Given the description of an element on the screen output the (x, y) to click on. 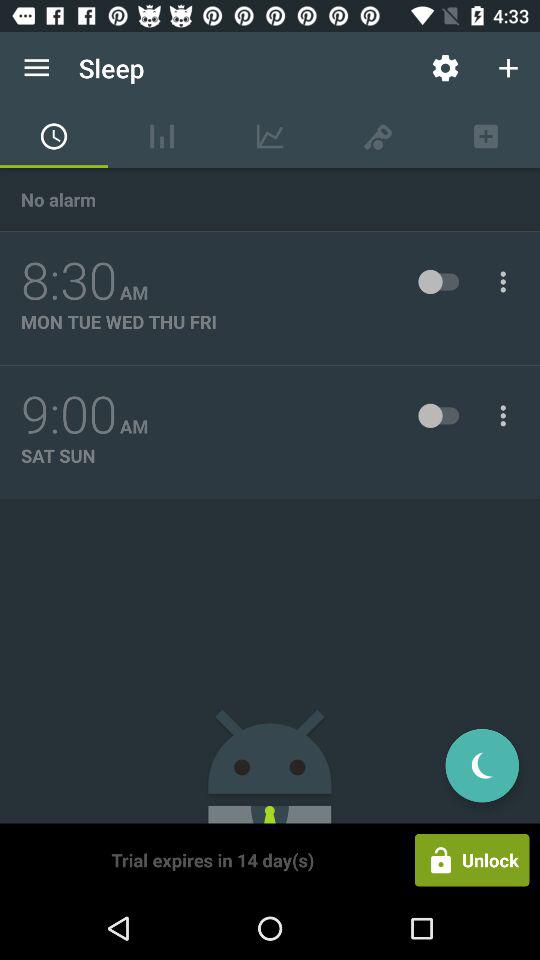
open item above sat sun item (69, 415)
